Given the description of an element on the screen output the (x, y) to click on. 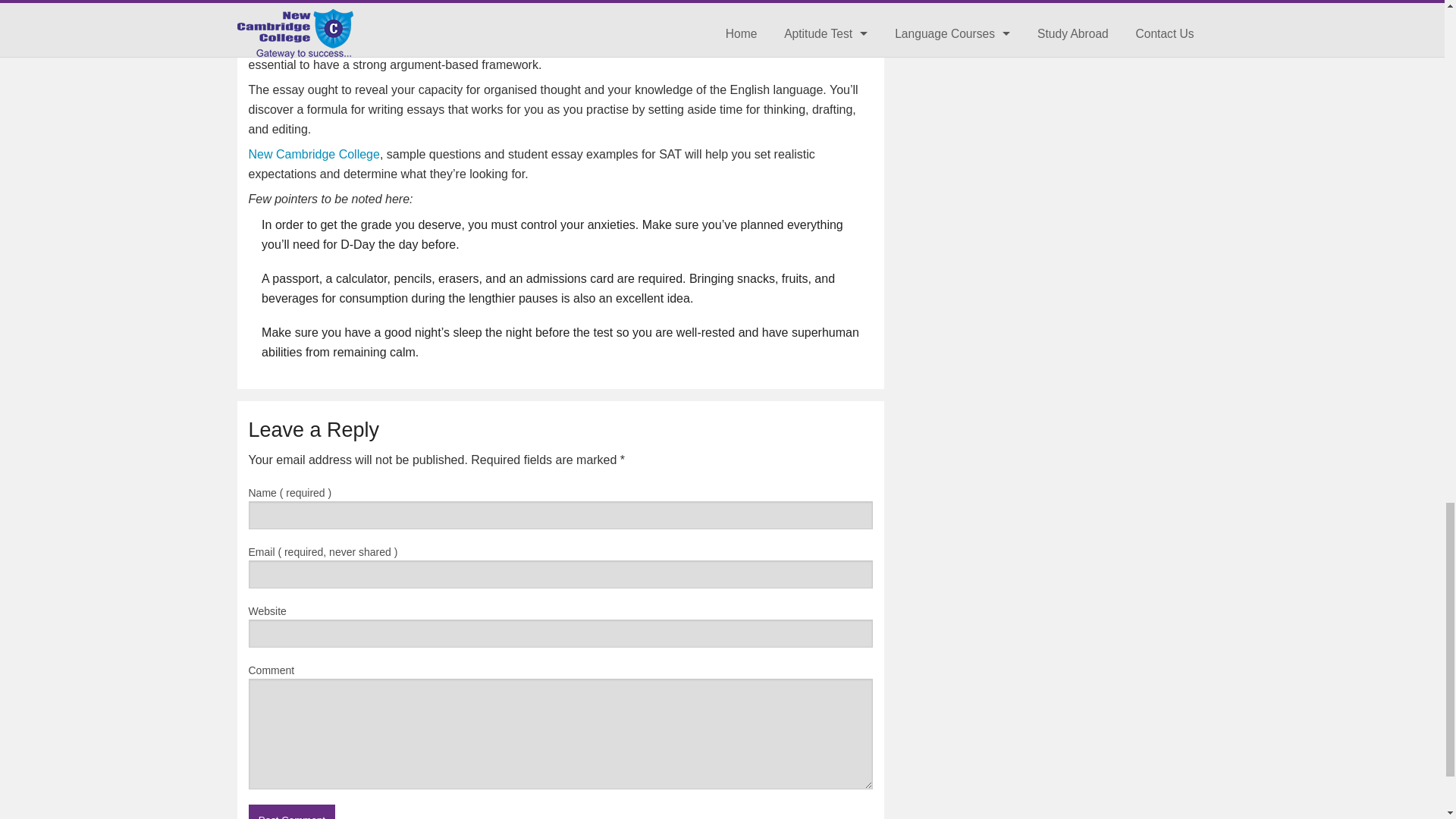
New Cambridge College (314, 154)
